Given the description of an element on the screen output the (x, y) to click on. 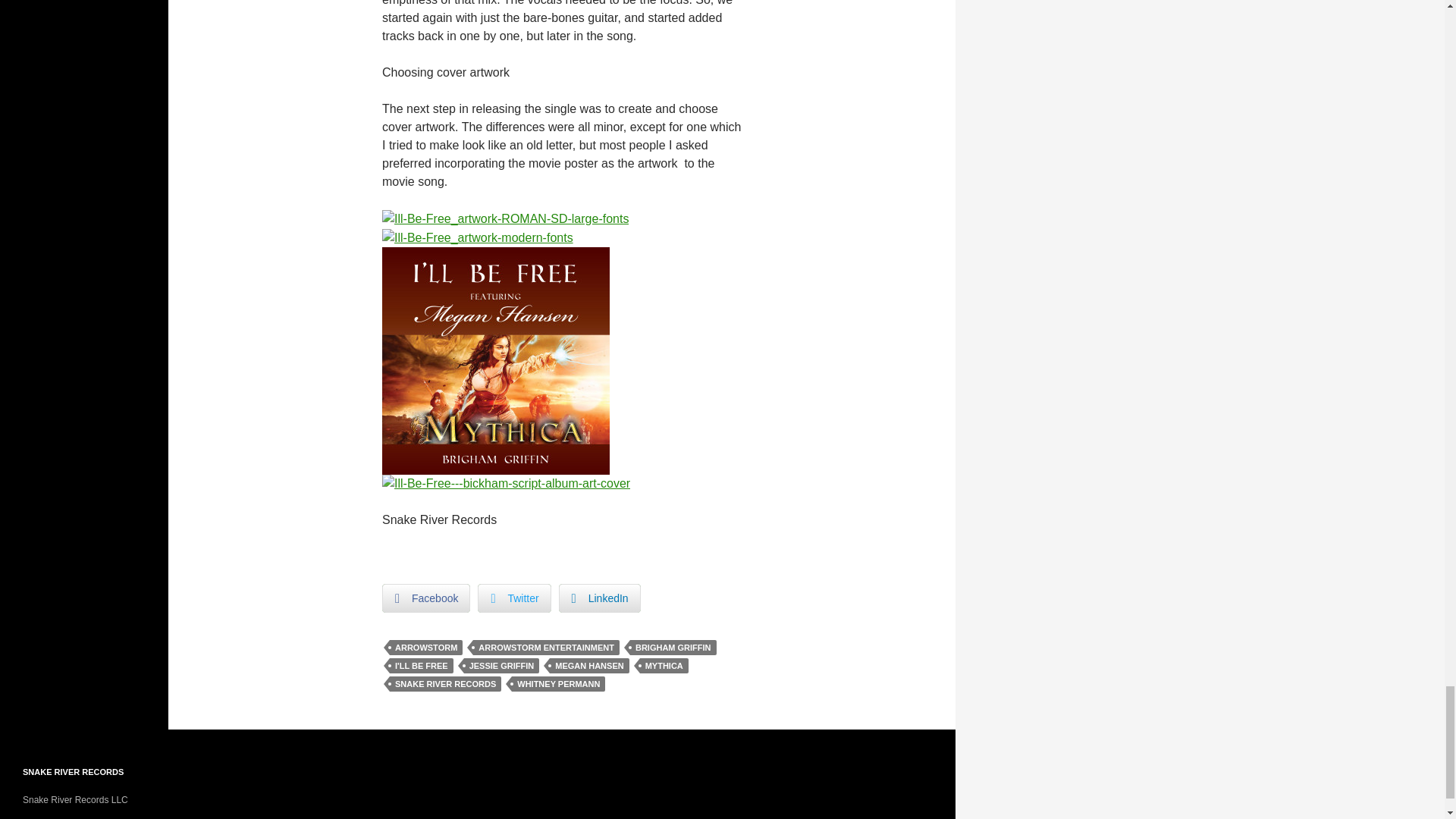
Facebook (425, 597)
Twitter (513, 597)
